Given the description of an element on the screen output the (x, y) to click on. 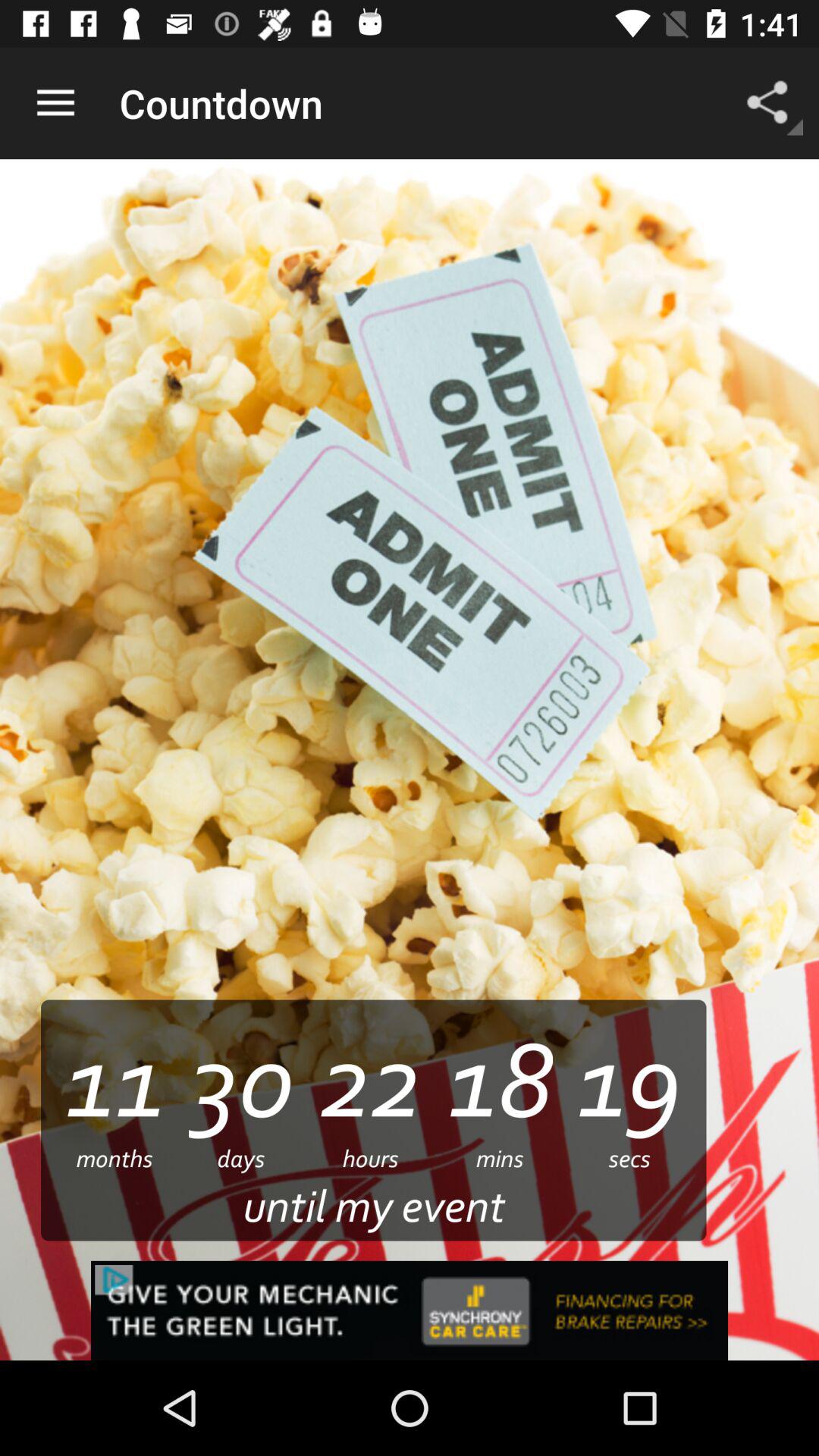
tap the app next to the countdown item (55, 103)
